Given the description of an element on the screen output the (x, y) to click on. 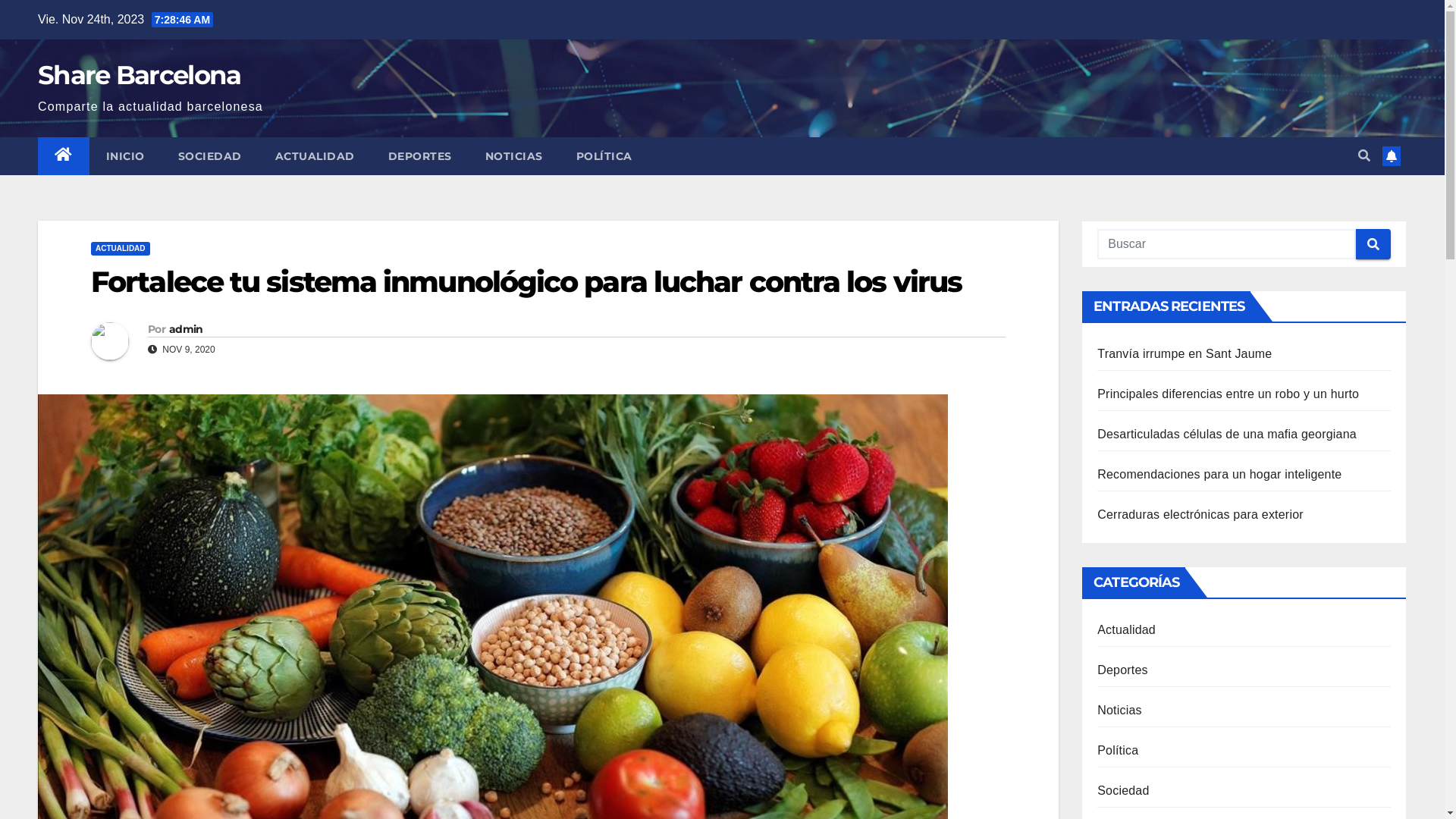
Principales diferencias entre un robo y un hurto Element type: text (1227, 393)
Recomendaciones para un hogar inteligente Element type: text (1219, 473)
Deportes Element type: text (1122, 669)
DEPORTES Element type: text (419, 156)
ACTUALIDAD Element type: text (313, 156)
Share Barcelona Element type: text (139, 75)
Noticias Element type: text (1119, 709)
admin Element type: text (186, 328)
ACTUALIDAD Element type: text (120, 248)
SOCIEDAD Element type: text (208, 156)
NOTICIAS Element type: text (513, 156)
INICIO Element type: text (125, 156)
Sociedad Element type: text (1122, 790)
Actualidad Element type: text (1126, 629)
